Given the description of an element on the screen output the (x, y) to click on. 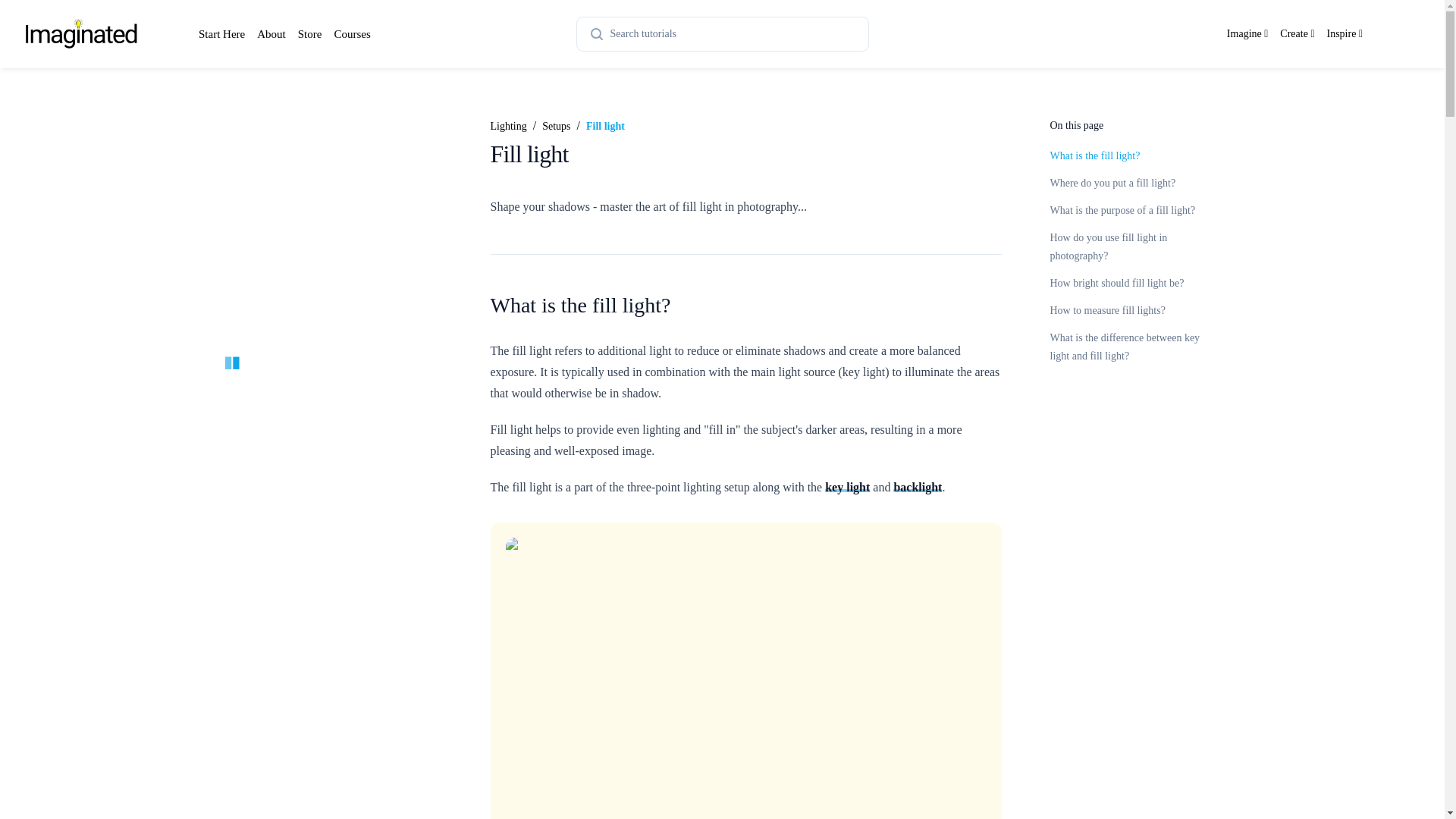
Fill light (605, 125)
backlight (917, 486)
Where do you put a fill light? (1111, 183)
Search tutorials (721, 33)
Store (309, 34)
key light (847, 486)
About (271, 34)
Setups (555, 125)
How do you use fill light in photography? (1108, 246)
How to measure fill lights? (1106, 310)
What is the difference between key light and fill light? (1124, 346)
What is the fill light? (1094, 155)
Courses (351, 34)
How bright should fill light be? (1116, 283)
